Given the description of an element on the screen output the (x, y) to click on. 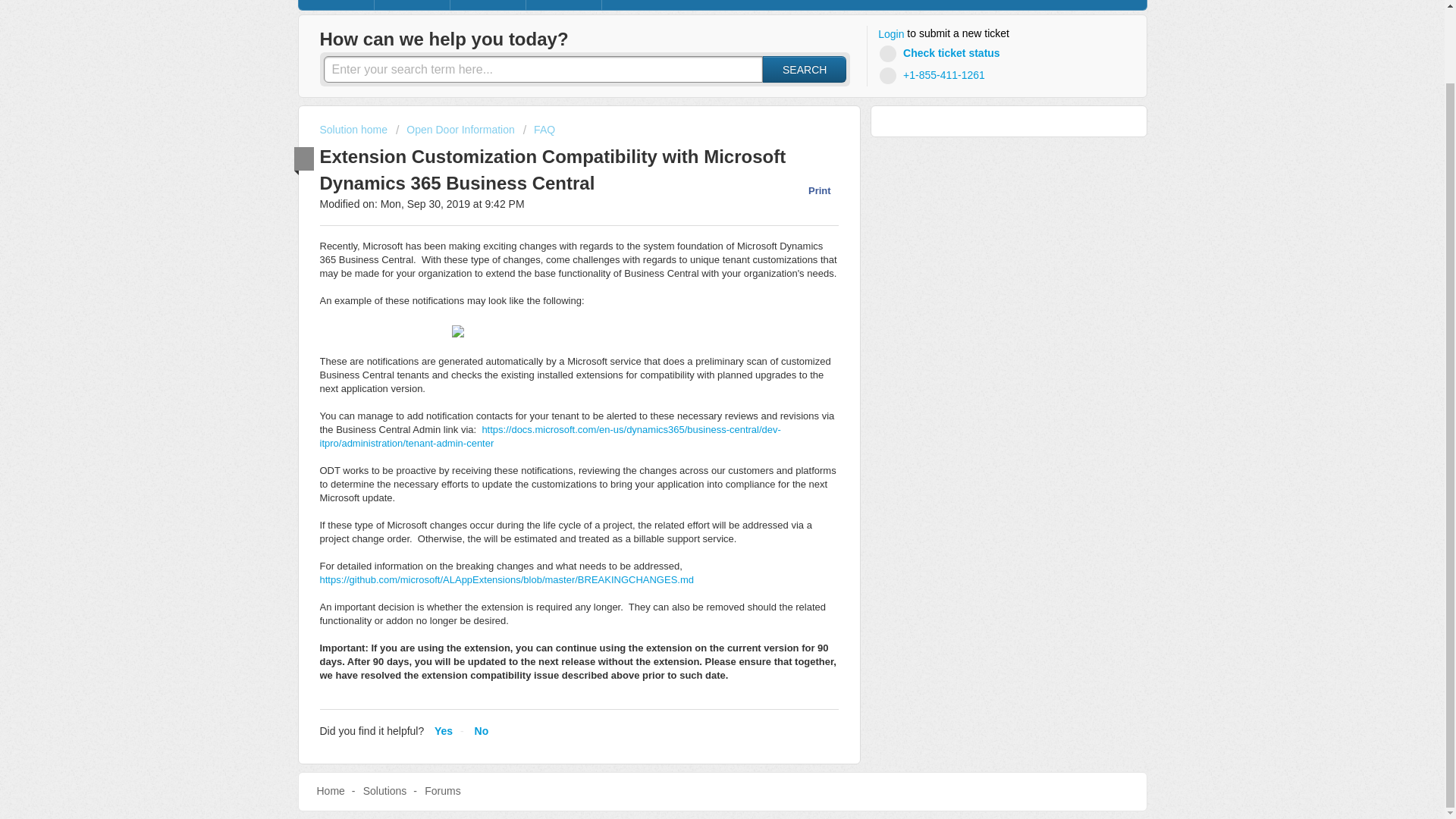
Forums (487, 4)
Solutions (384, 790)
Login (890, 34)
Solutions (411, 4)
SEARCH (803, 69)
LOGIN (563, 4)
Check ticket status (941, 53)
Home (336, 4)
Print this Article (812, 190)
FAQ (538, 129)
